Given the description of an element on the screen output the (x, y) to click on. 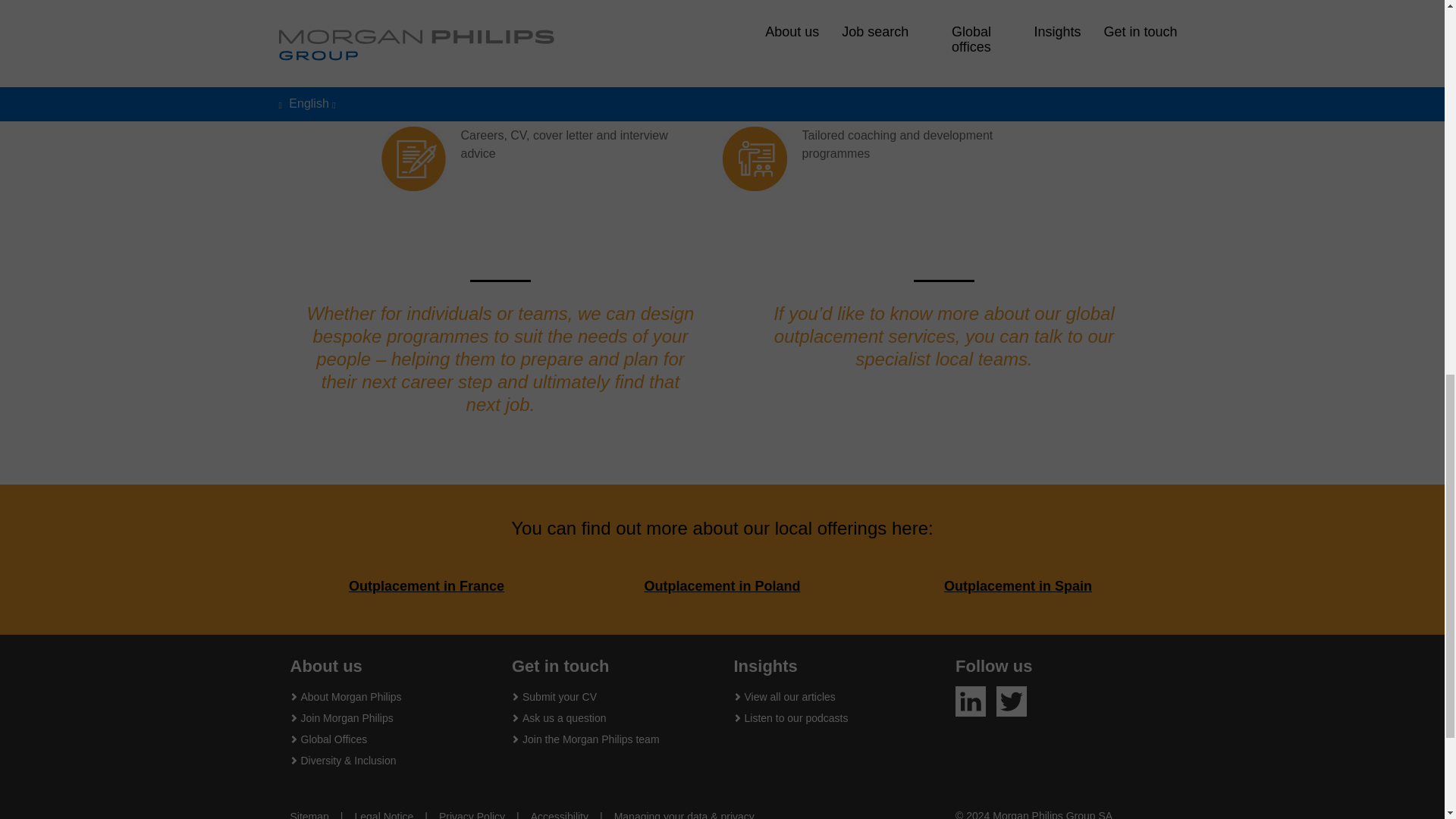
Outplacement in Spain (1017, 585)
Join Morgan Philips (346, 717)
Outplacement in France (426, 585)
Outplacement in Poland (721, 585)
About Morgan Philips (350, 696)
